Given the description of an element on the screen output the (x, y) to click on. 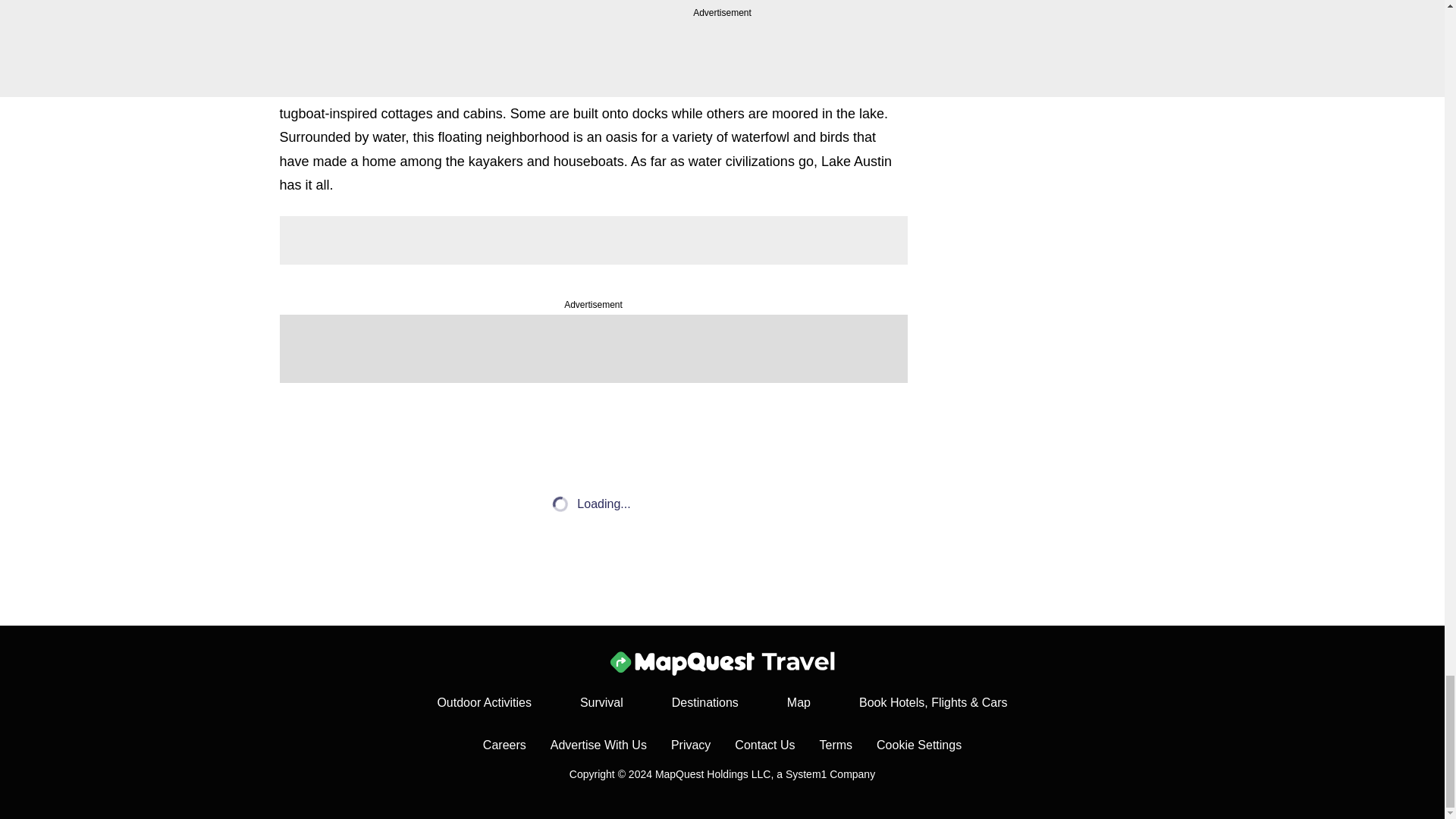
Terms (834, 744)
Destinations (704, 702)
Privacy (690, 744)
Contact Us (764, 744)
Survival (601, 702)
Careers (504, 744)
MapQuest Travel Home (721, 662)
Outdoor Activities (483, 702)
System1 (806, 774)
Cookie Settings (918, 745)
